Given the description of an element on the screen output the (x, y) to click on. 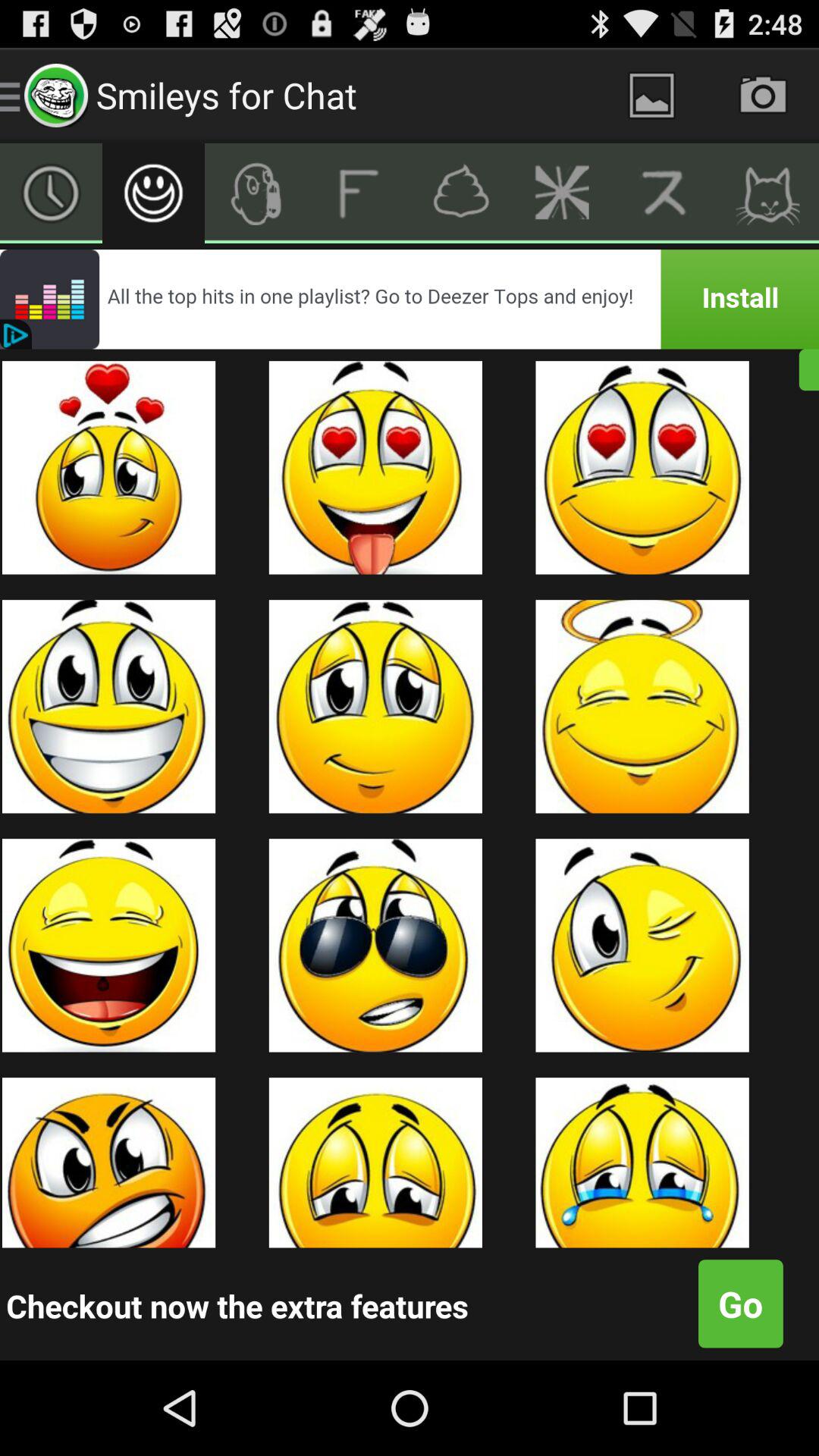
take a photo (763, 95)
